Given the description of an element on the screen output the (x, y) to click on. 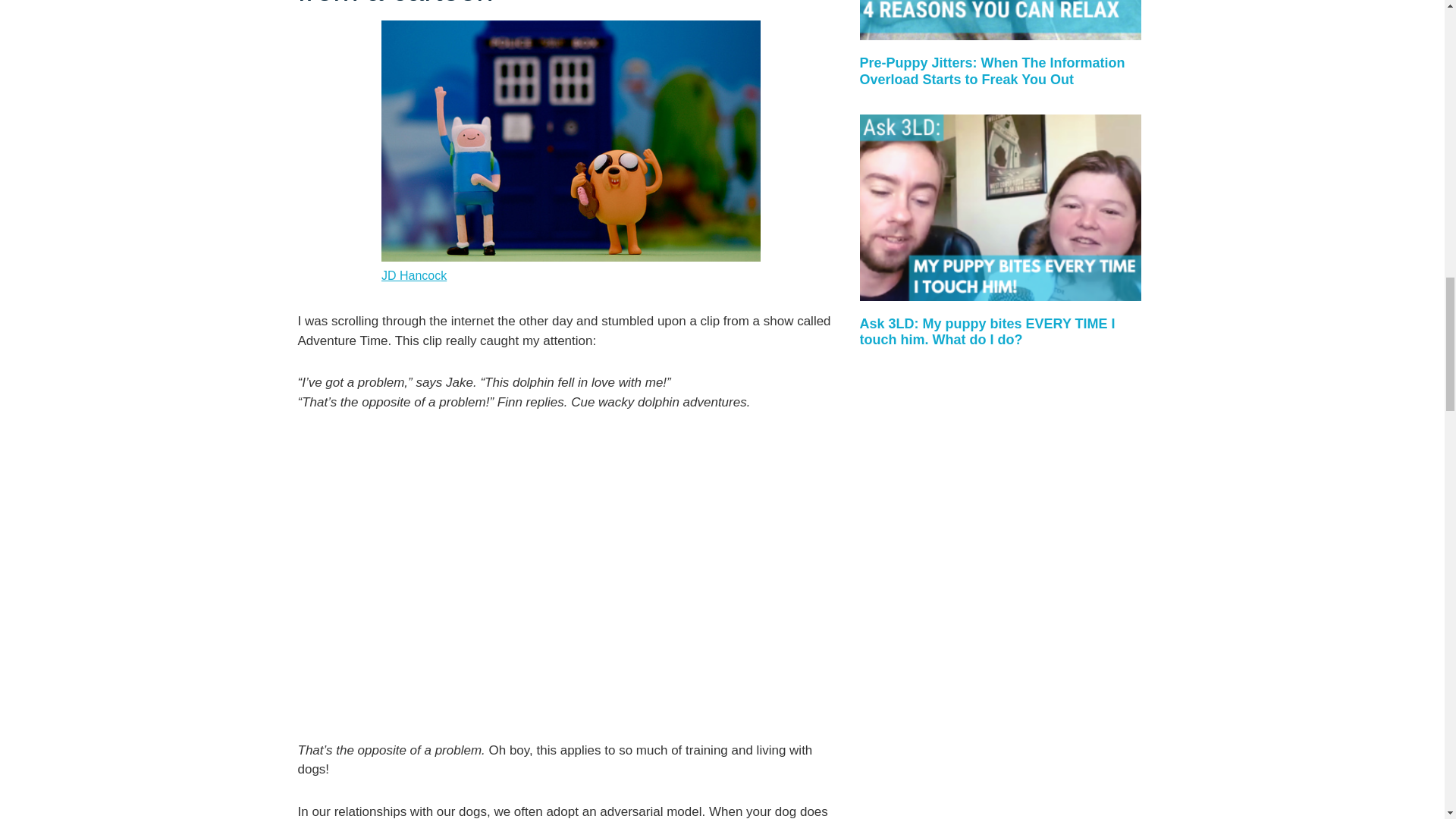
JD Hancock (413, 274)
